Given the description of an element on the screen output the (x, y) to click on. 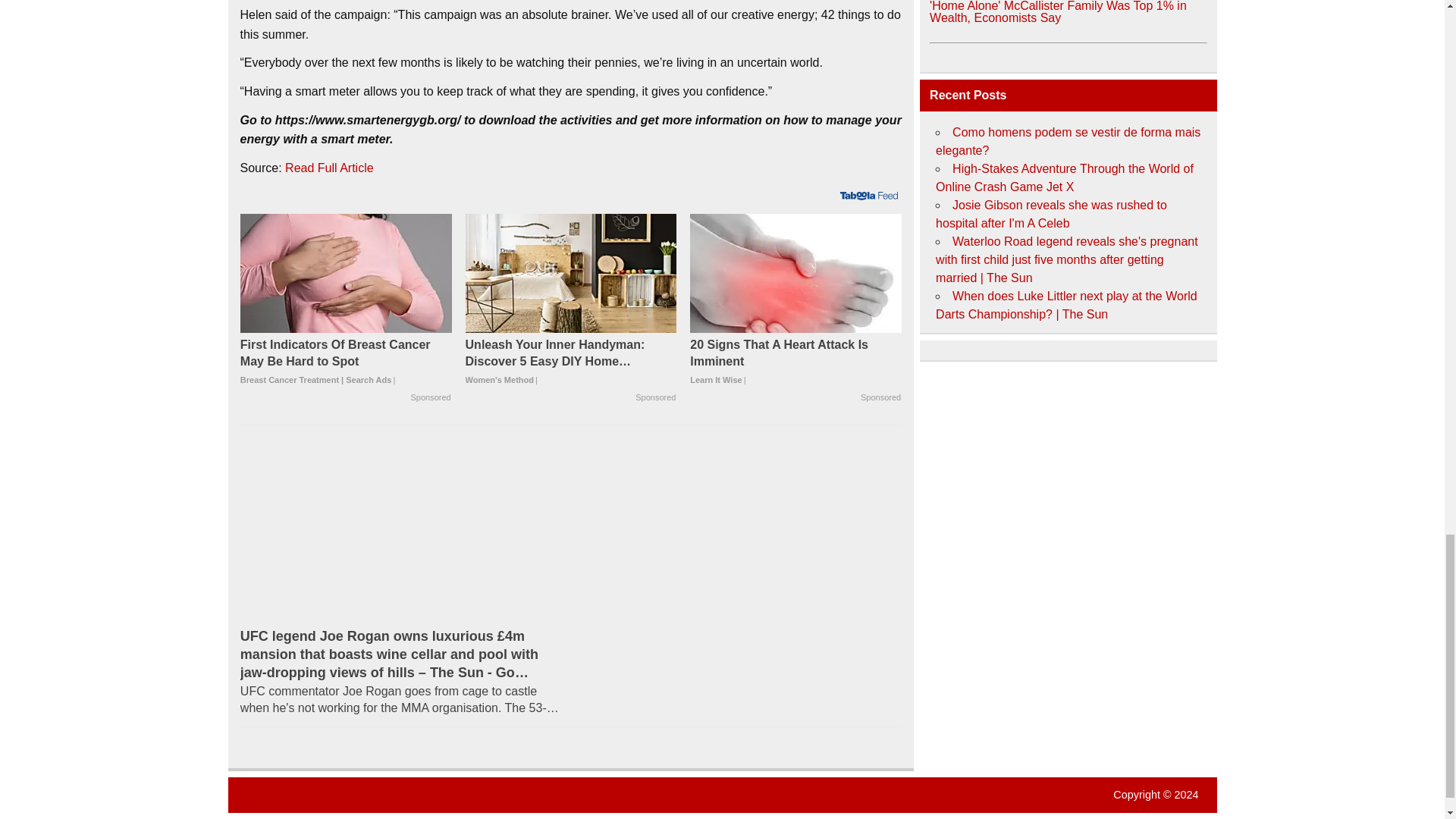
Sponsored (880, 397)
20 Signs That A Heart Attack Is Imminent (795, 272)
First Indicators Of Breast Cancer May Be Hard to Spot (345, 362)
First Indicators Of Breast Cancer May Be Hard to Spot (345, 272)
Sponsored (430, 397)
Sponsored (654, 397)
20 Signs That A Heart Attack Is Imminent (795, 362)
Read Full Article (329, 167)
